Given the description of an element on the screen output the (x, y) to click on. 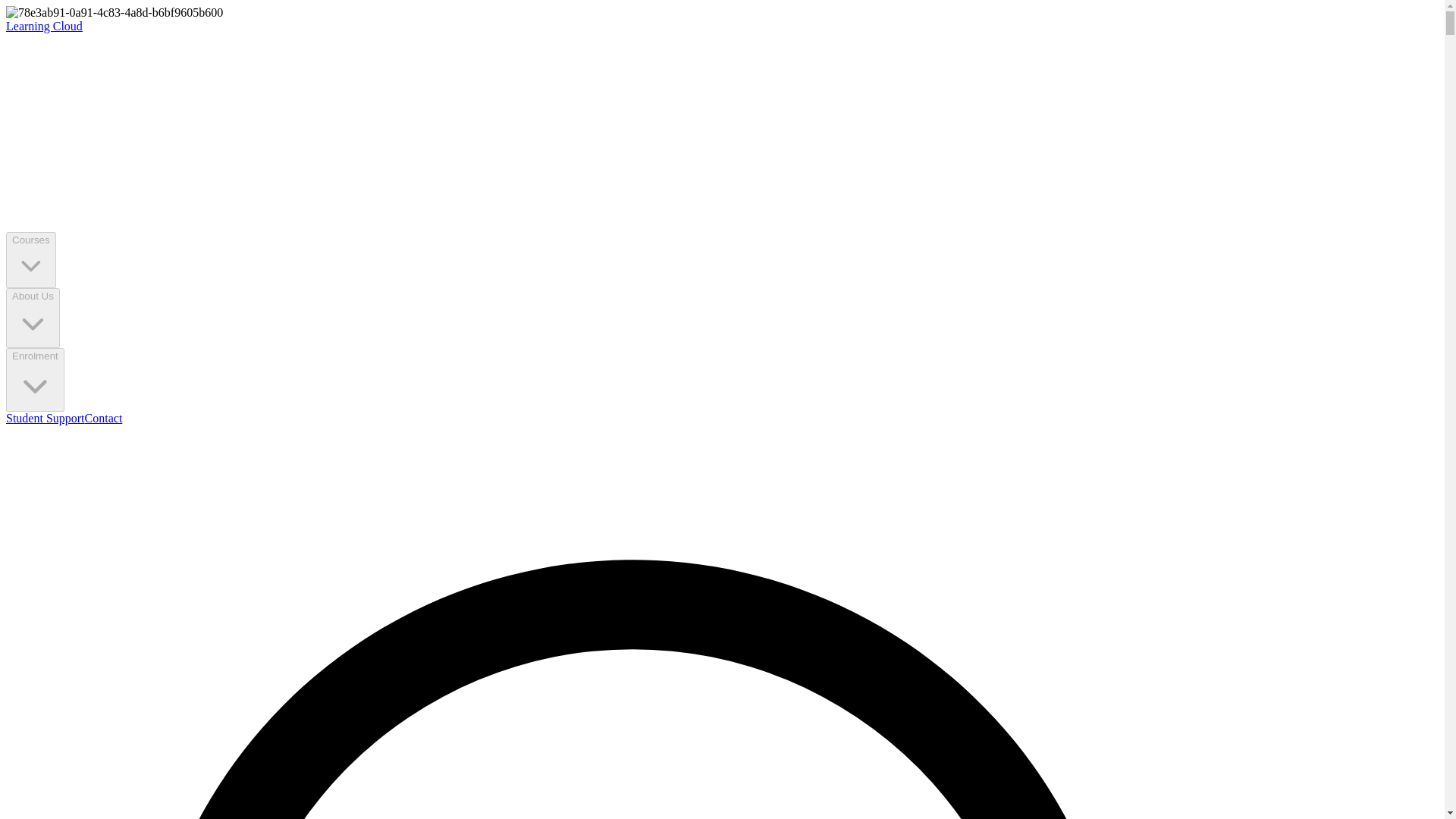
Enrolment (34, 380)
Student Support (44, 418)
Contact (103, 418)
About Us (32, 318)
Courses (30, 259)
